Given the description of an element on the screen output the (x, y) to click on. 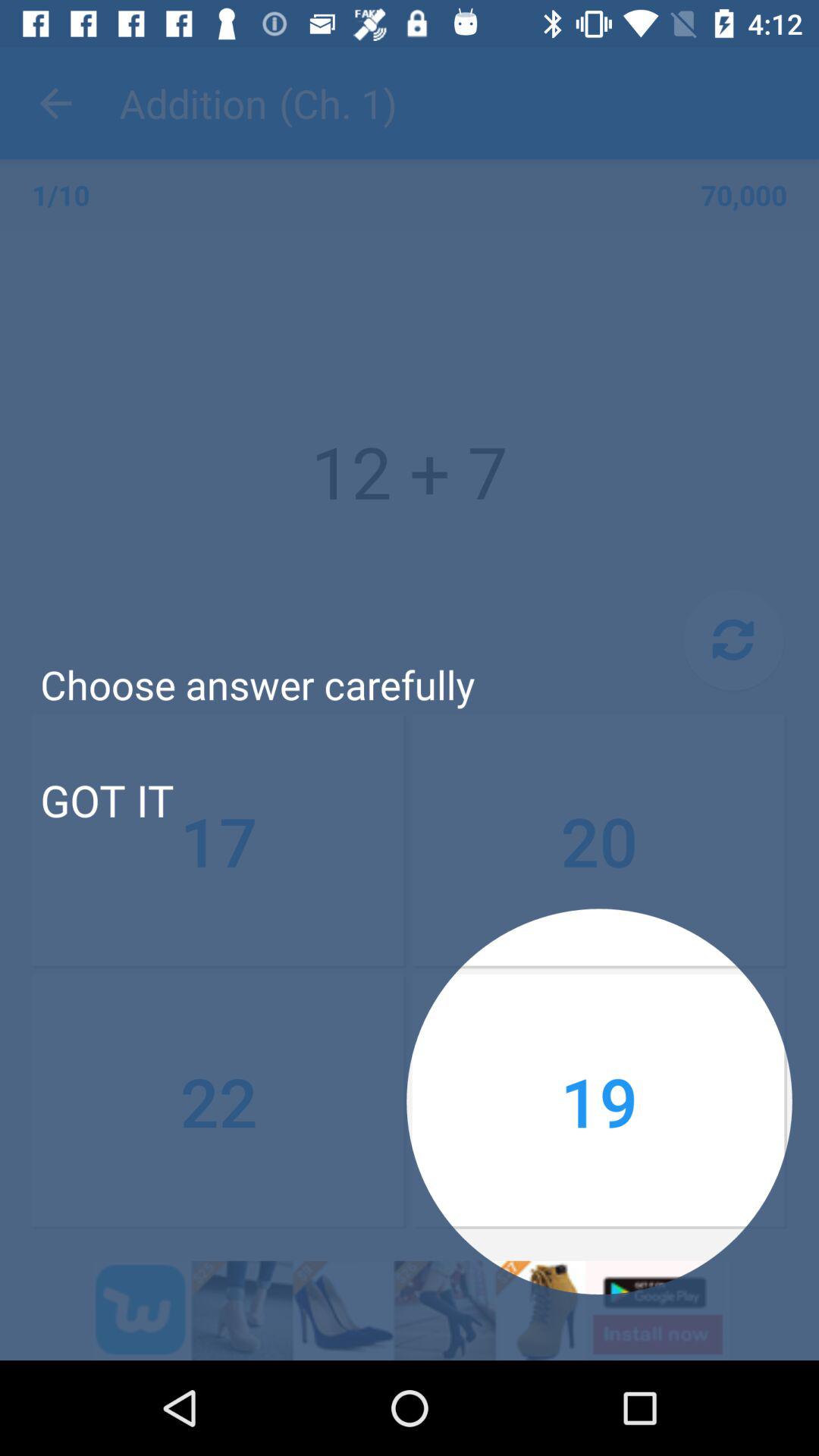
flip until the 22 item (218, 1101)
